Given the description of an element on the screen output the (x, y) to click on. 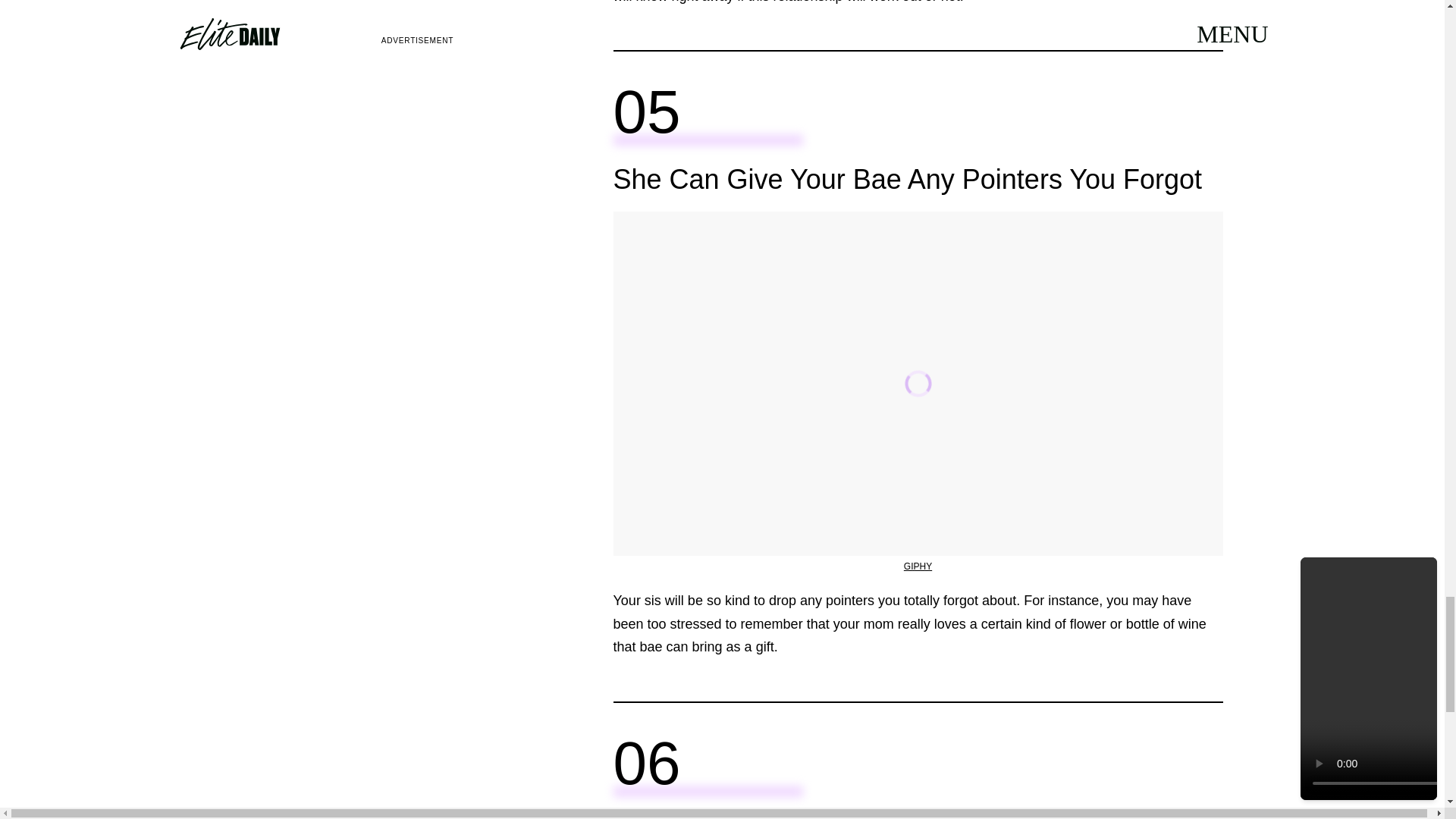
GIPHY (917, 566)
